Given the description of an element on the screen output the (x, y) to click on. 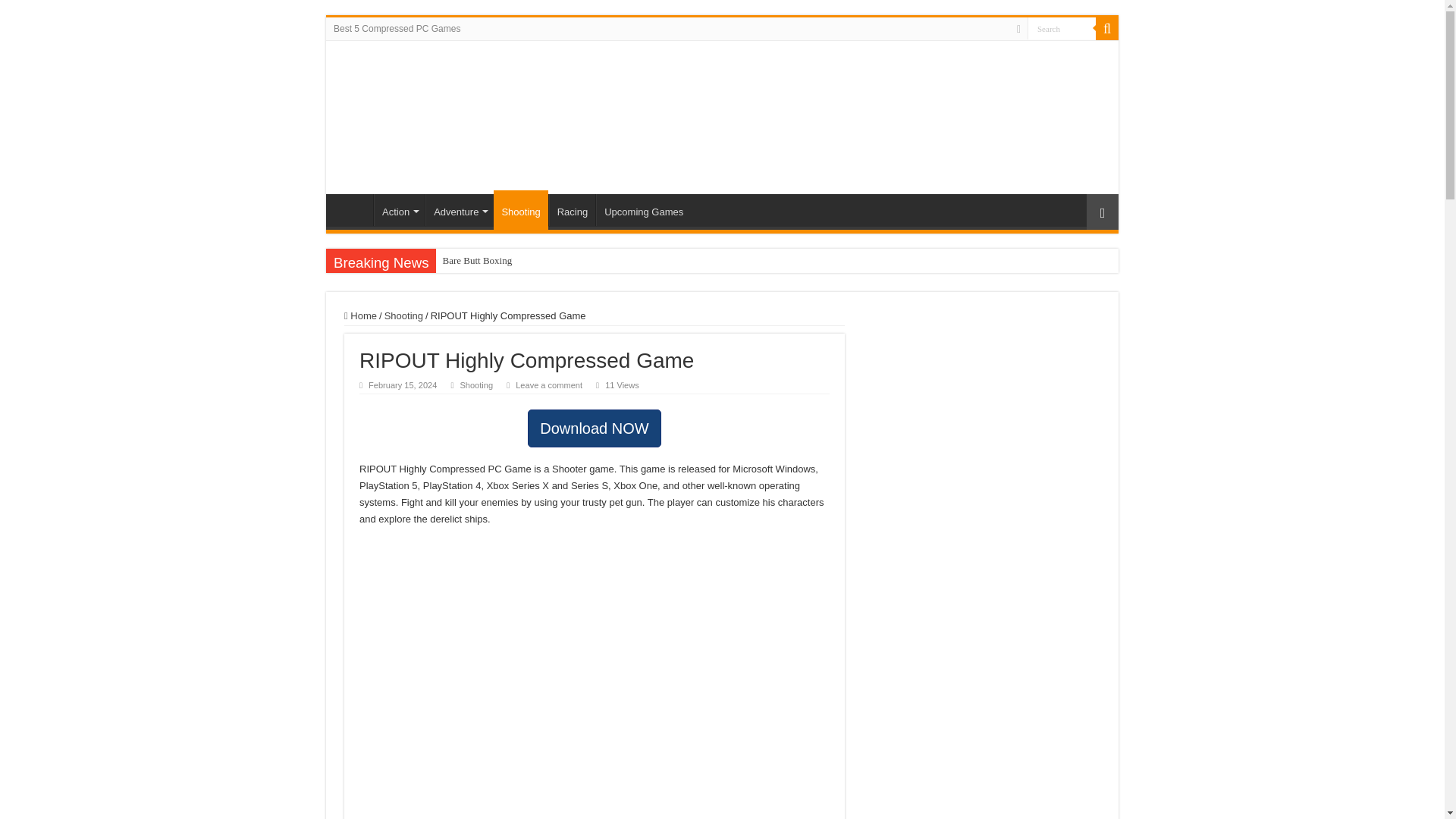
Highly Compressed PC Games (666, 114)
Adventure (459, 210)
Racing (571, 210)
Download NOW (594, 428)
Shooting (476, 384)
Bare Butt Boxing (502, 260)
Home (352, 210)
Bare Butt Boxing (502, 260)
Best 5 Compressed PC Games (396, 28)
Leave a comment (548, 384)
